Given the description of an element on the screen output the (x, y) to click on. 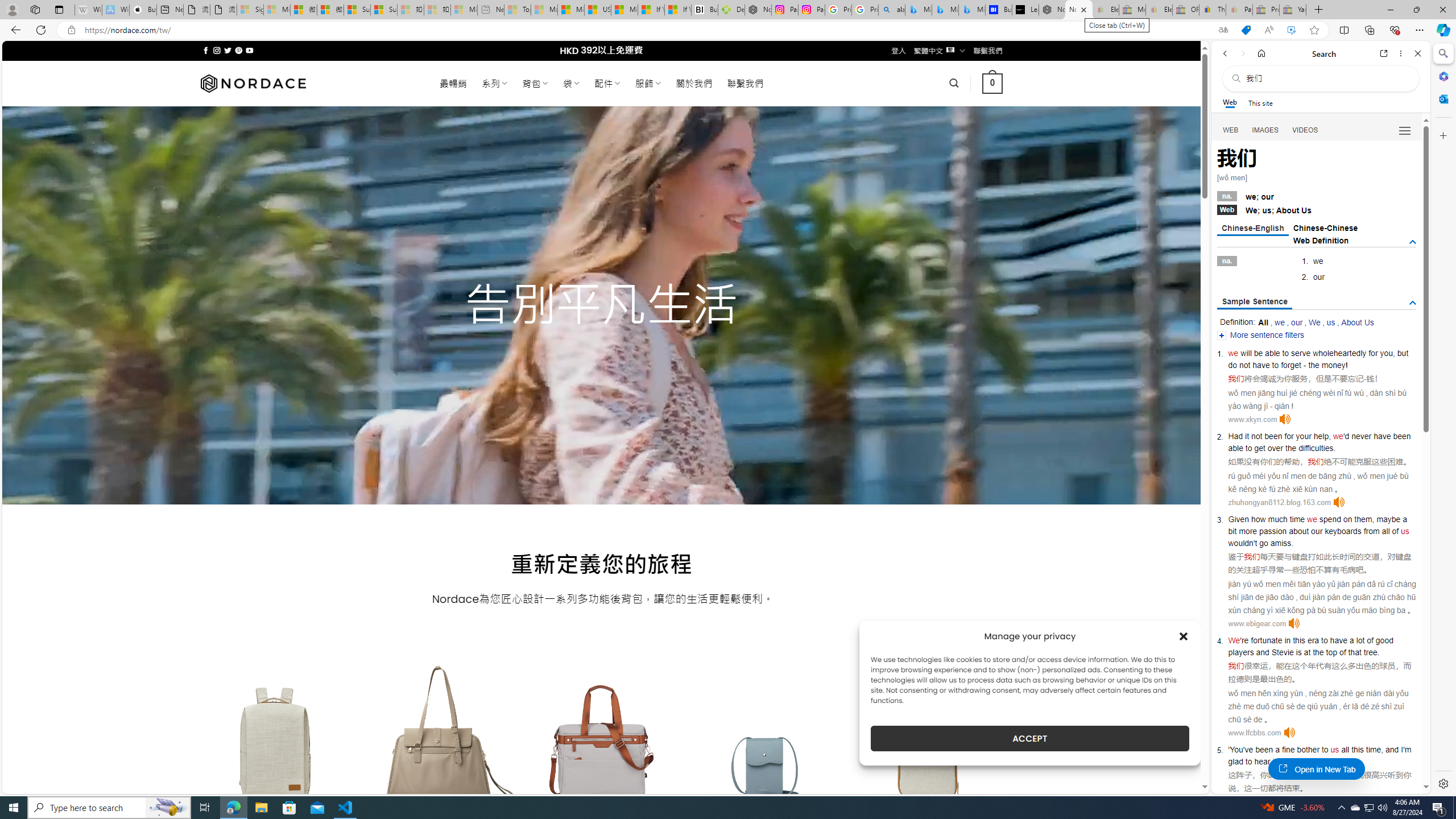
Payments Terms of Use | eBay.com - Sleeping (1239, 9)
www.xkyn.com (1251, 419)
Buy iPad - Apple (143, 9)
Follow on Pinterest (237, 50)
is (1298, 651)
'm (1407, 749)
